Given the description of an element on the screen output the (x, y) to click on. 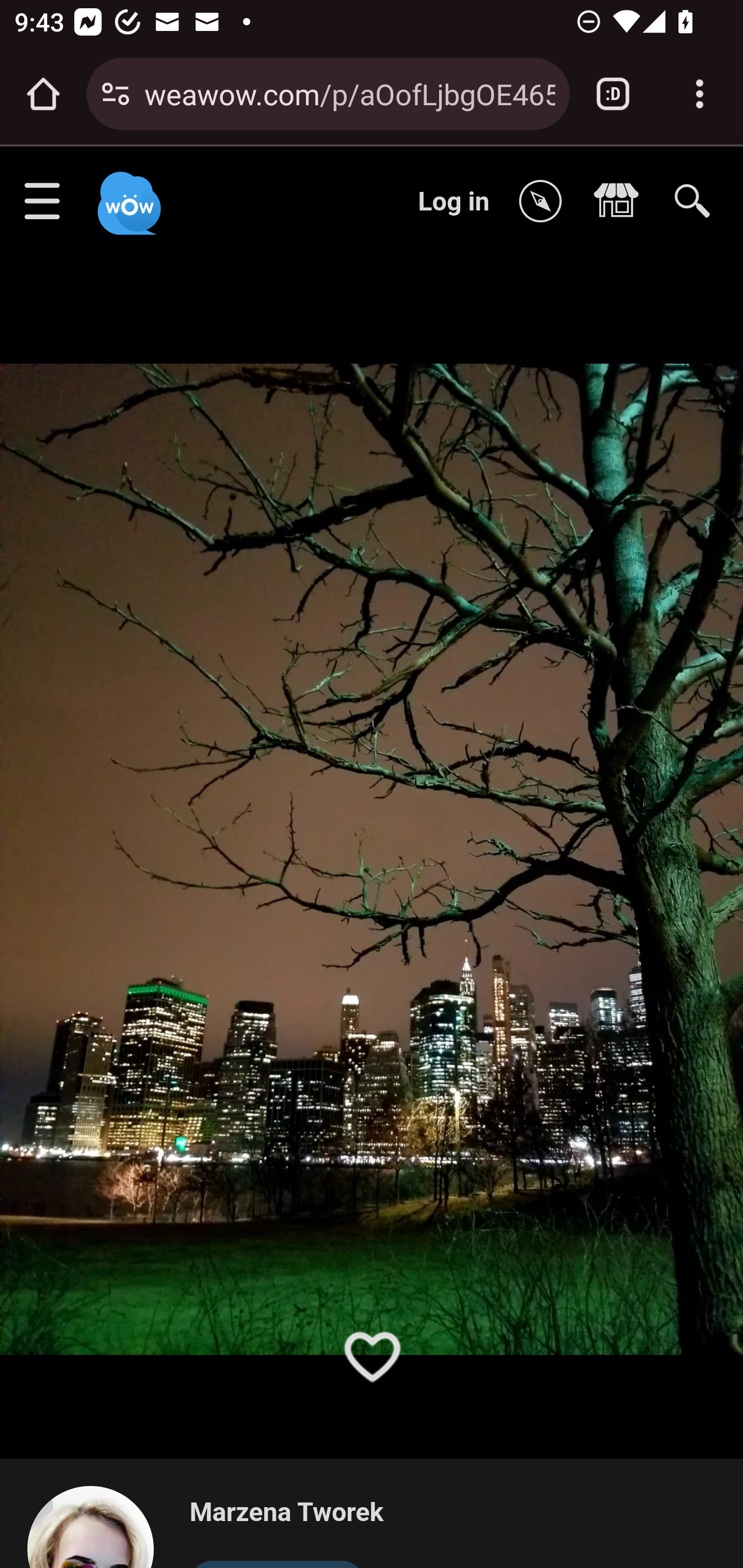
Open the home page (43, 93)
Connection is secure (115, 93)
Switch or close tabs (612, 93)
Customize and control Google Chrome (699, 93)
weawow.com/p/aOofLjbgOE46530 (349, 92)
Weawow (127, 194)
 (545, 201)
 (621, 201)
Log in (453, 201)
Marzena Tworek (285, 1513)
